Given the description of an element on the screen output the (x, y) to click on. 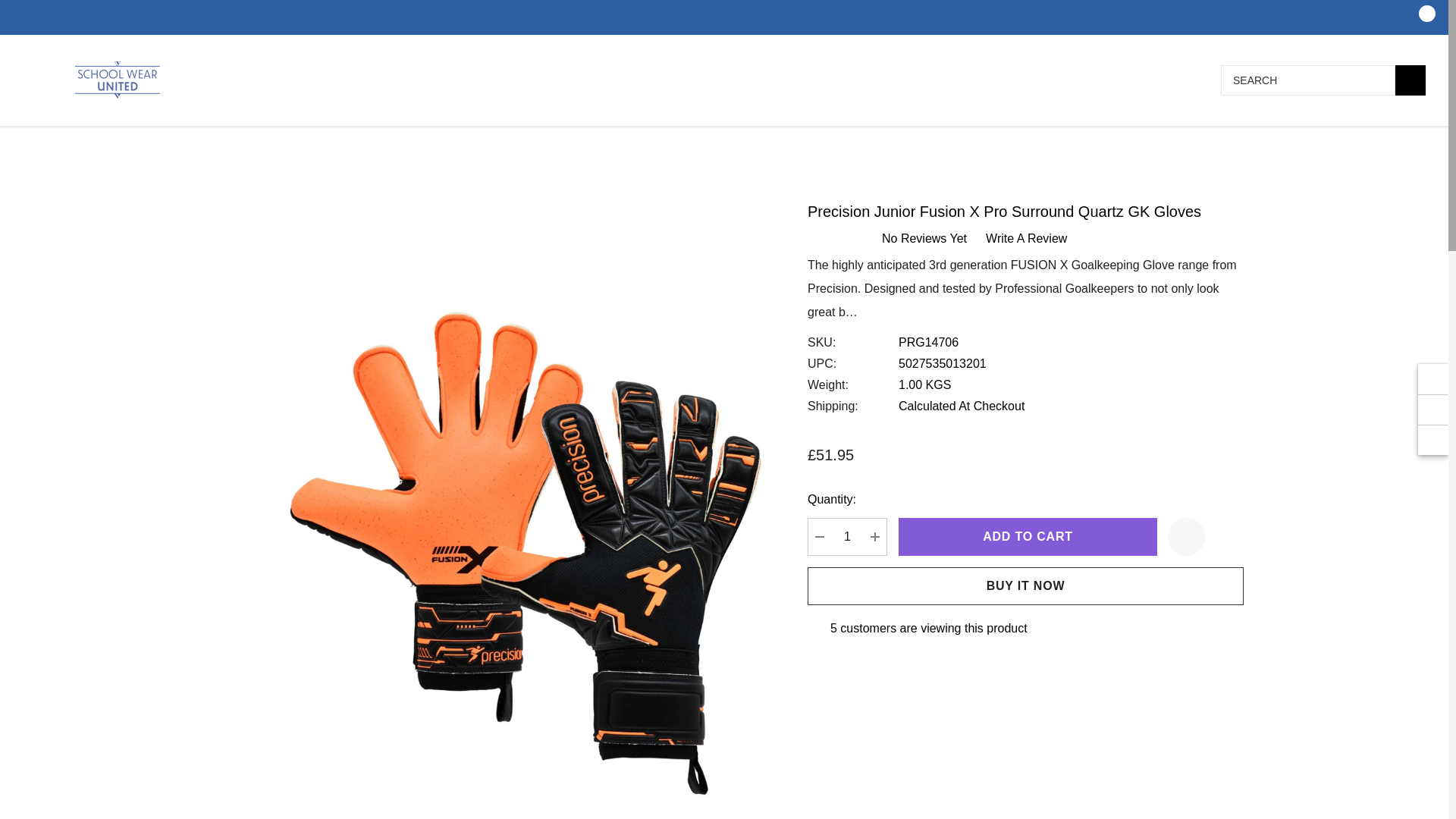
ACCOUNT ACCOUNT (1357, 17)
Buy it now (1025, 586)
ACCOUNT ACCOUNT (1359, 17)
WISH LISTS WISH LISTS (1388, 17)
YOUR CART YOUR CART (1417, 17)
1 (847, 536)
WISH LISTS WISH LISTS (1387, 17)
Add to Cart (1027, 536)
YOUR CART YOUR CART (1416, 17)
